Given the description of an element on the screen output the (x, y) to click on. 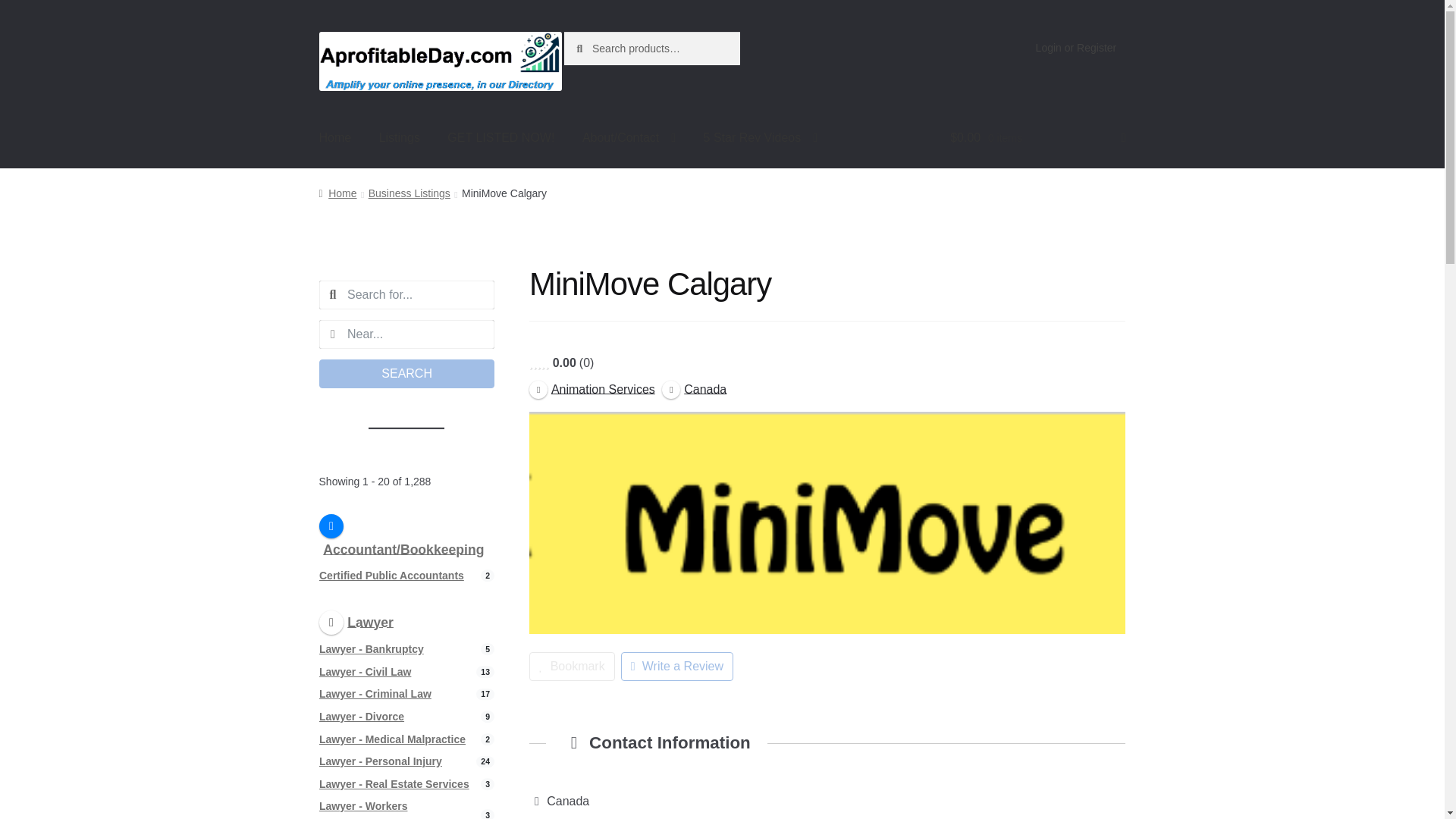
Lawyer - Divorce (361, 716)
Listings (399, 137)
Lawyer - Criminal Law (374, 693)
Canada (694, 388)
Lawyer - Medical Malpractice (391, 739)
Lawyer (355, 621)
View your shopping cart (1037, 137)
Animation Services (592, 388)
5 Star Rev Videos (760, 137)
GET LISTED NOW! (500, 137)
Lawyer - Bankruptcy (370, 648)
Home (335, 137)
Lawyer - Civil Law (364, 671)
